Given the description of an element on the screen output the (x, y) to click on. 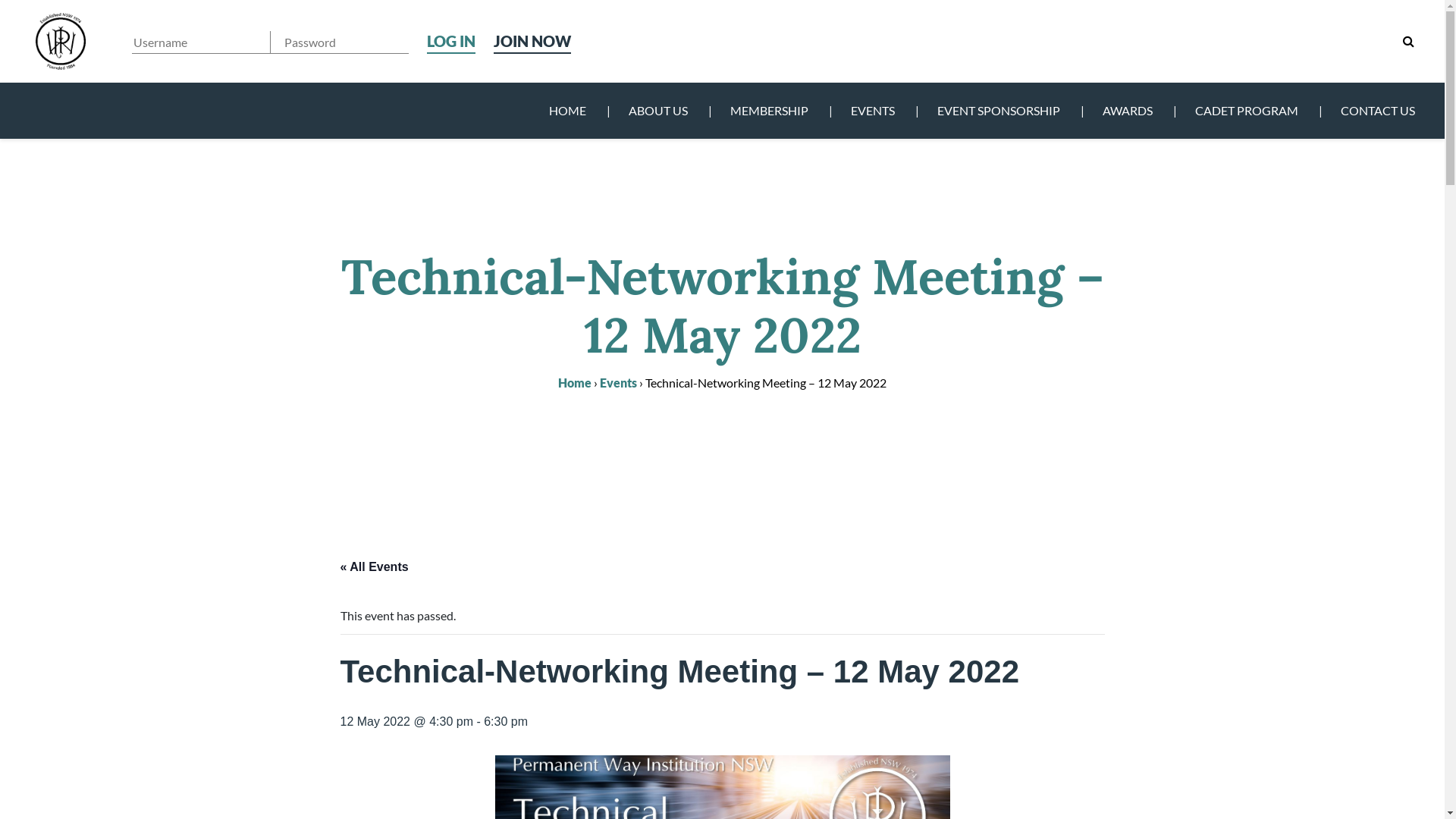
ABOUT US Element type: text (658, 110)
AWARDS Element type: text (1127, 110)
CADET PROGRAM Element type: text (1246, 110)
CONTACT US Element type: text (1376, 110)
EVENT SPONSORSHIP Element type: text (998, 110)
Search Element type: text (908, 28)
Permanent Way Institution of New South Wales Element type: hover (60, 41)
EVENTS Element type: text (872, 110)
Search Element type: hover (1408, 40)
HOME Element type: text (567, 110)
JOIN NOW Element type: text (532, 40)
Home Element type: text (574, 382)
MEMBERSHIP Element type: text (769, 110)
Log In Element type: text (450, 39)
Events Element type: text (618, 382)
